Given the description of an element on the screen output the (x, y) to click on. 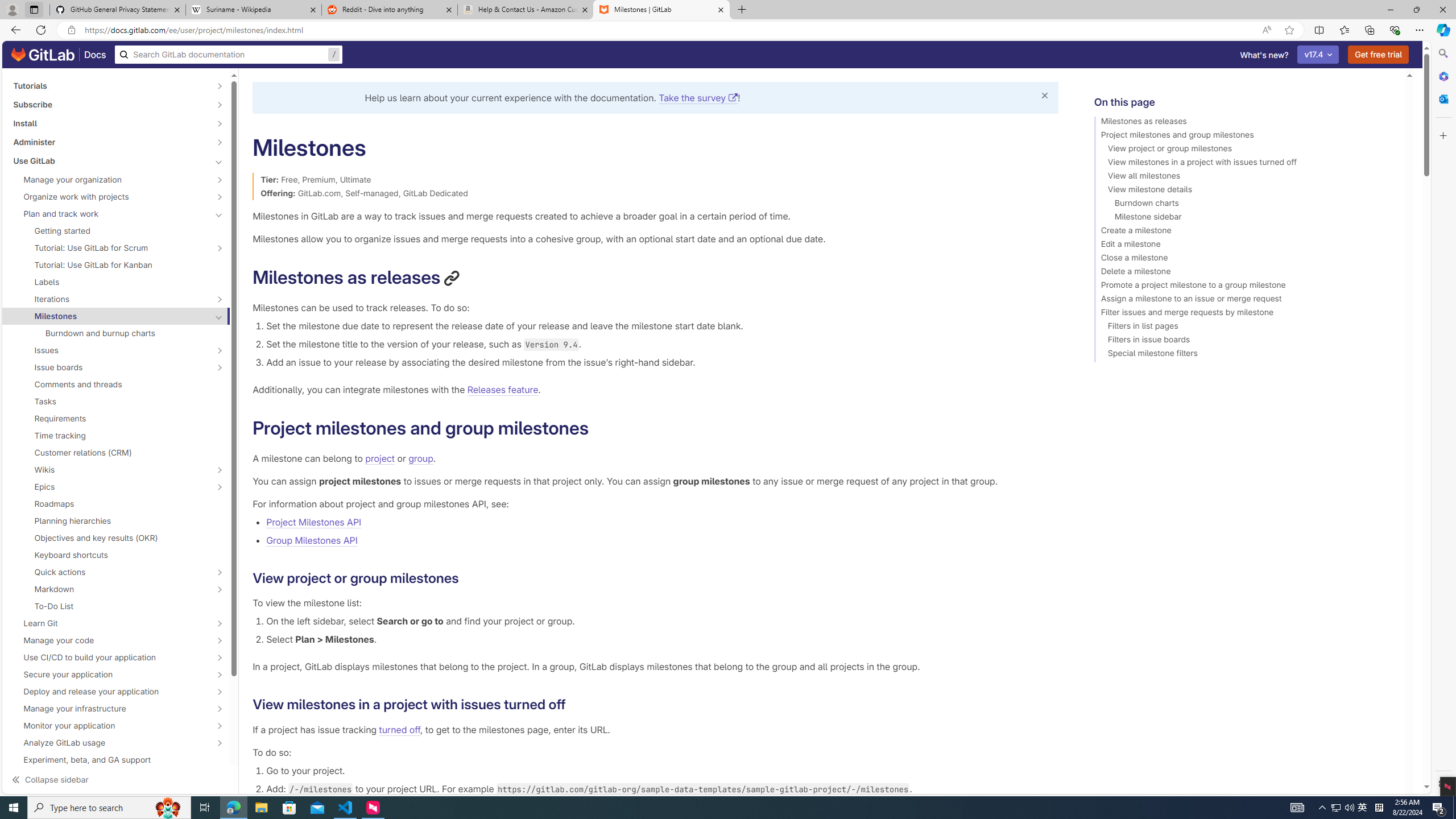
Create a milestone (1244, 232)
What's new? (1263, 54)
group (420, 458)
View all milestones (1244, 177)
v17.4 (1318, 54)
Filters in issue boards (1244, 341)
Manage your code (109, 640)
Promote a project milestone to a group milestone (1244, 287)
Objectives and key results (OKR) (116, 537)
Filter issues and merge requests by milestone (1244, 314)
Plan and track work (109, 213)
Planning hierarchies (116, 520)
